Given the description of an element on the screen output the (x, y) to click on. 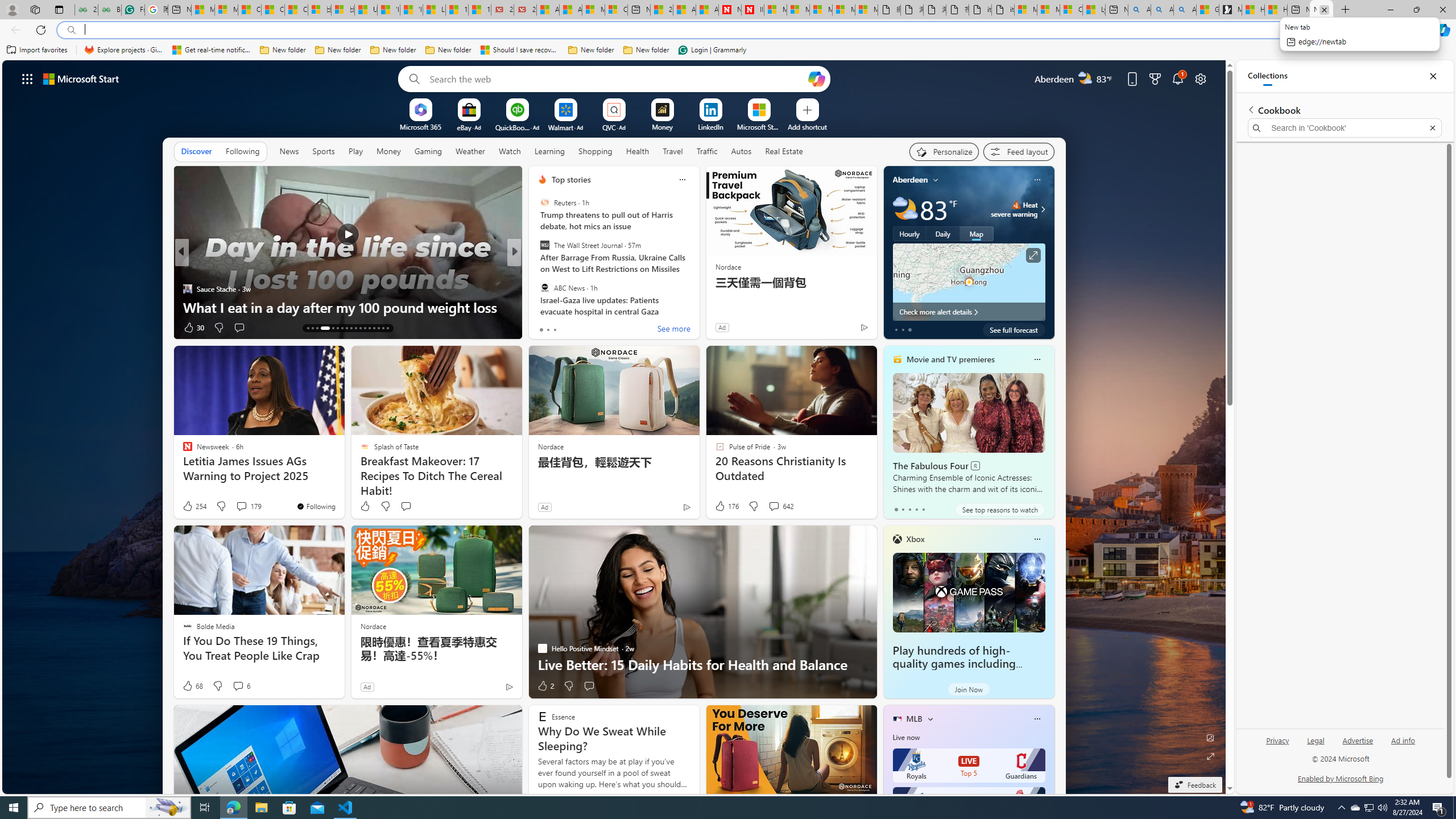
Ad info (1402, 740)
View comments 59 Comment (597, 327)
Expand background (1210, 756)
Import favorites (36, 49)
AutomationID: tab-16 (324, 328)
176 Like (726, 505)
tab-3 (916, 509)
20 Ways to Boost Your Protein Intake at Every Meal (661, 9)
View comments 9 Comment (596, 327)
